Given the description of an element on the screen output the (x, y) to click on. 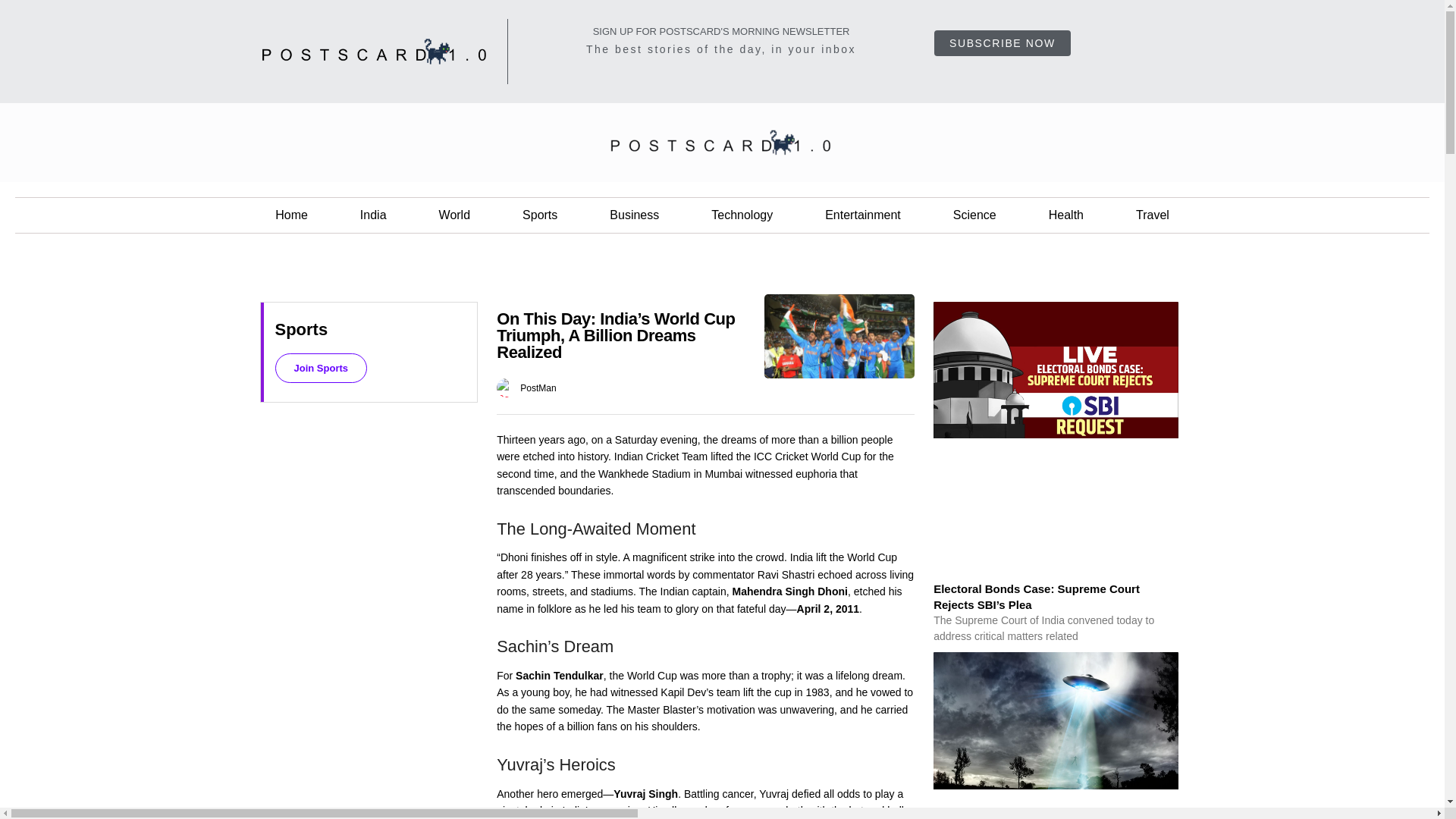
Join Sports (320, 367)
SUBSCRIBE NOW (1002, 43)
Home (291, 215)
Entertainment (862, 215)
Science (974, 215)
Sports (539, 215)
PostMan (537, 386)
Travel (1153, 215)
India (373, 215)
Technology (741, 215)
World (454, 215)
Business (634, 215)
Health (1066, 215)
